Given the description of an element on the screen output the (x, y) to click on. 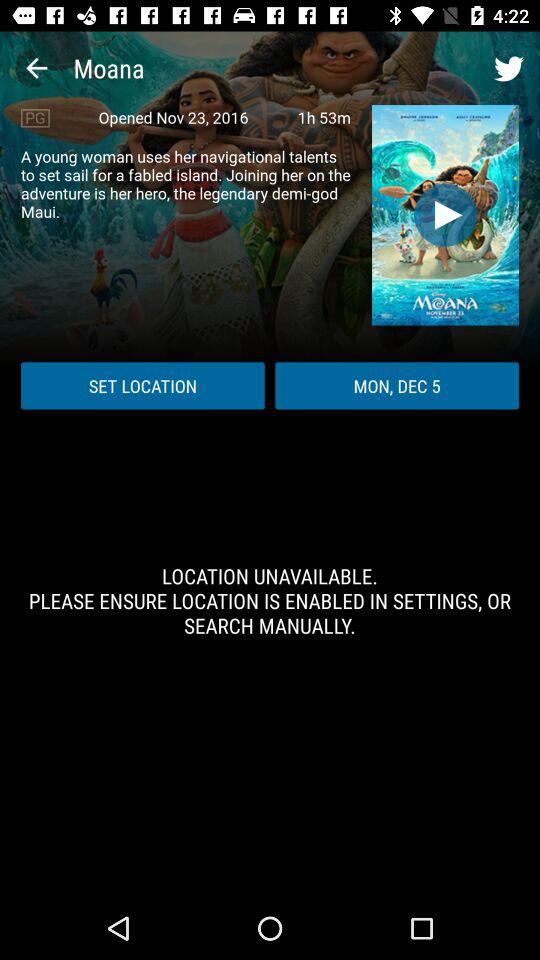
jump until mon, dec 5 item (397, 385)
